Given the description of an element on the screen output the (x, y) to click on. 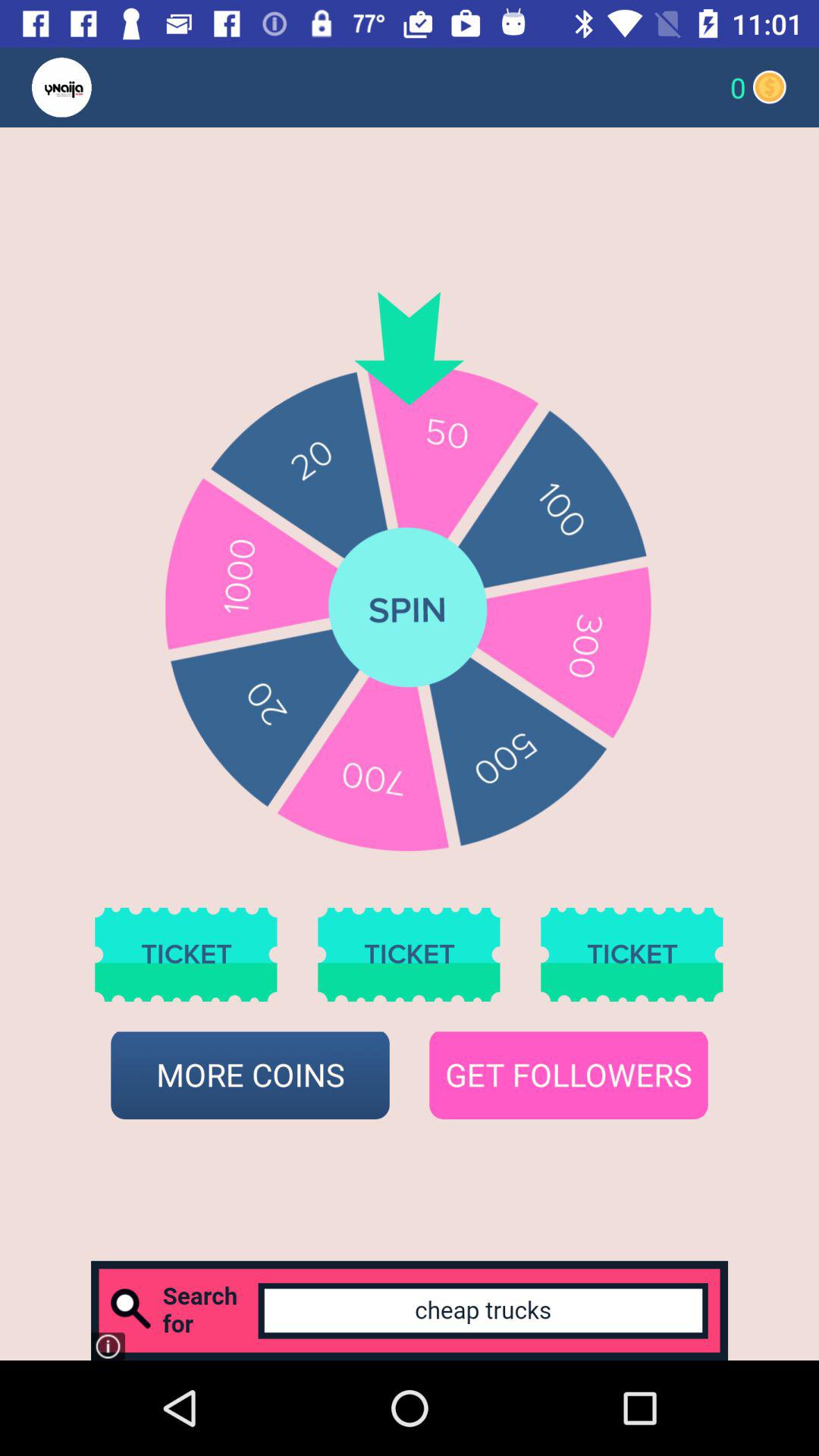
turn on the item above the ticket item (91, 87)
